Given the description of an element on the screen output the (x, y) to click on. 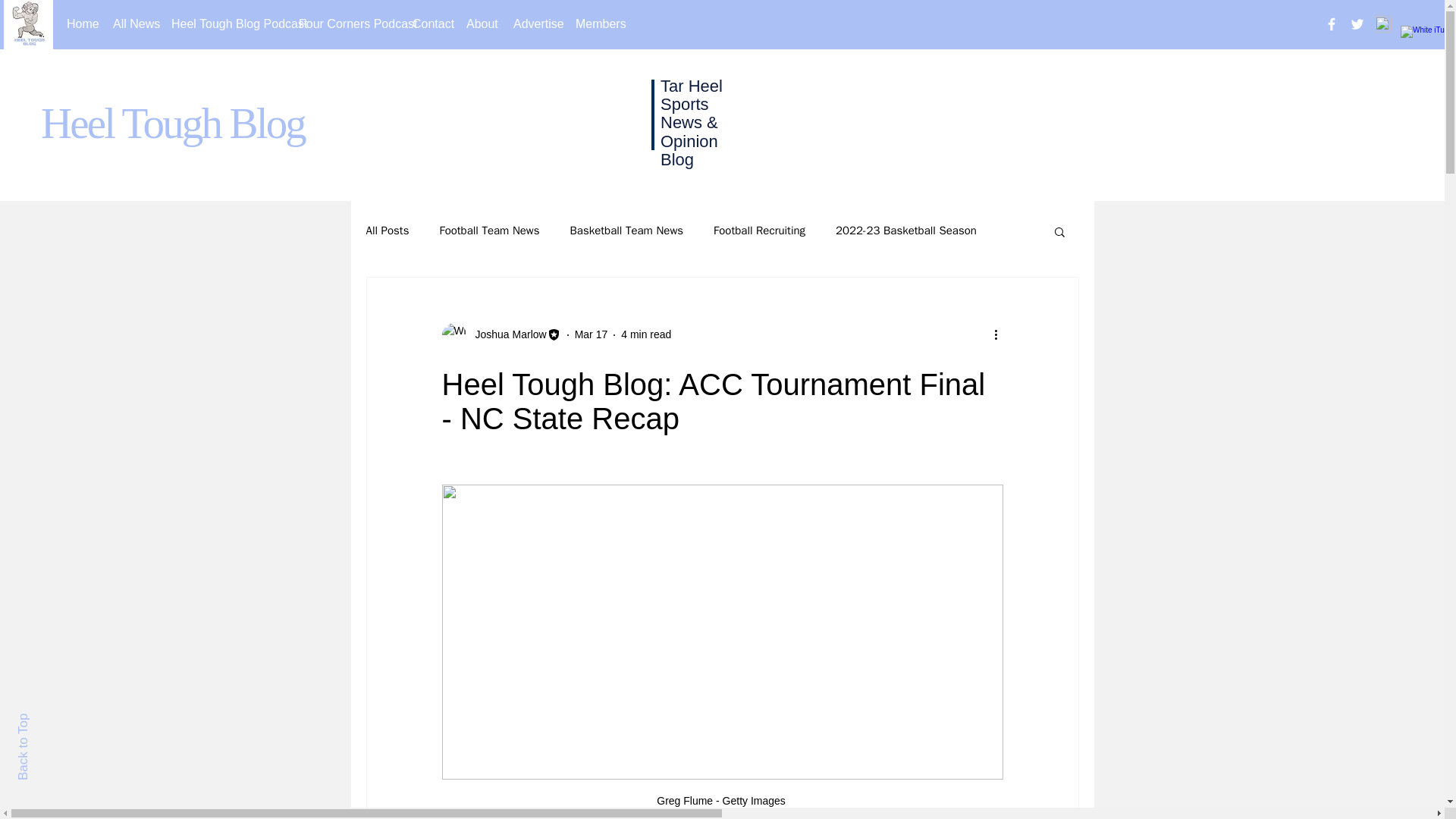
Heel Tough Blog Podcast (223, 23)
Mar 17 (591, 334)
Contact (427, 23)
2022-23 Basketball Season (905, 230)
Home (78, 23)
Four Corners Podcast (343, 23)
Football Recruiting (759, 230)
Advertise (533, 23)
Basketball Team News (627, 230)
About (478, 23)
All News (130, 23)
Heel Tough Blog (172, 123)
Football Team News (488, 230)
4 min read (646, 334)
Joshua Marlow (505, 334)
